Given the description of an element on the screen output the (x, y) to click on. 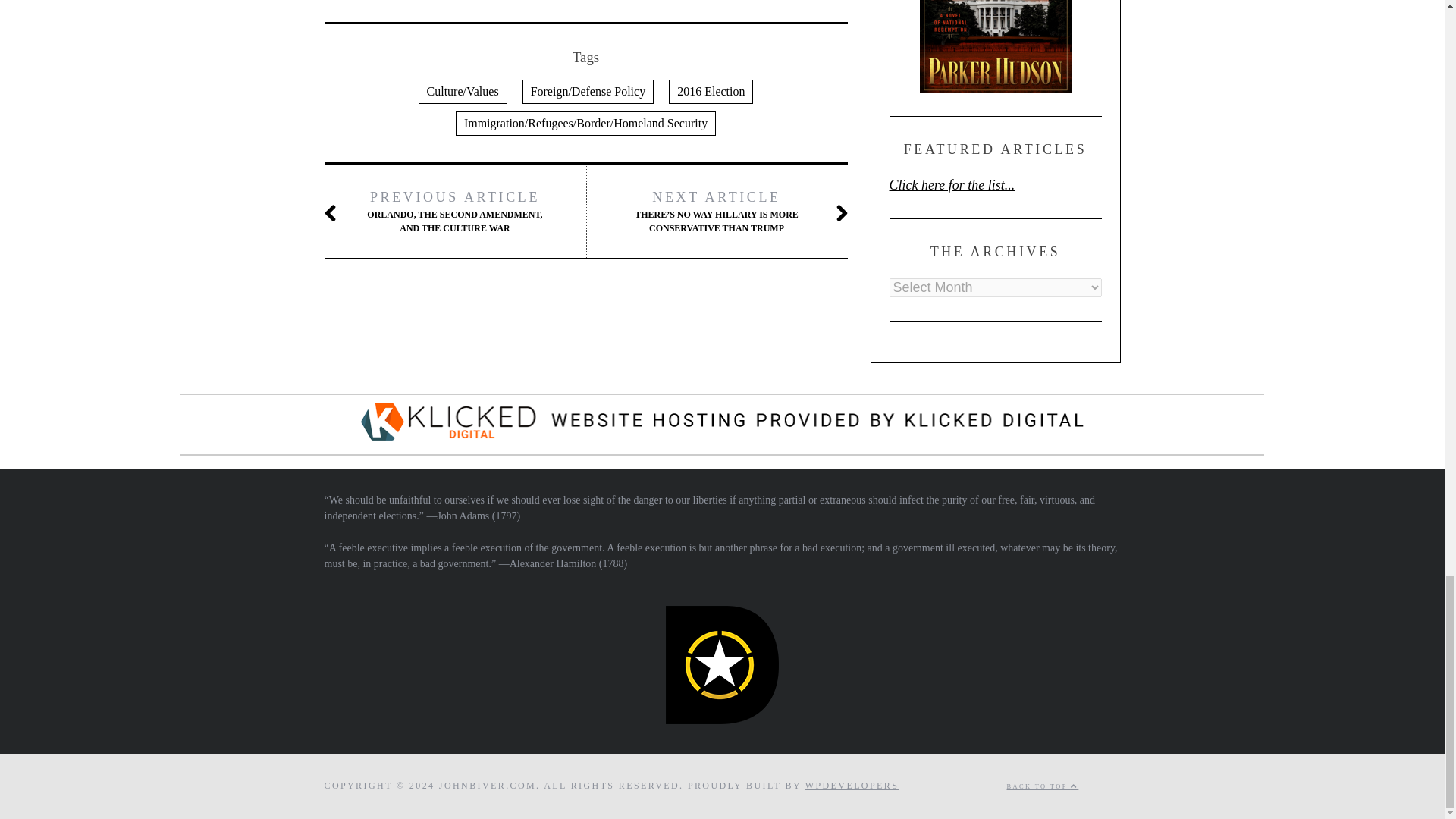
A Must-Read Novel (994, 46)
2016 Election (710, 91)
